Given the description of an element on the screen output the (x, y) to click on. 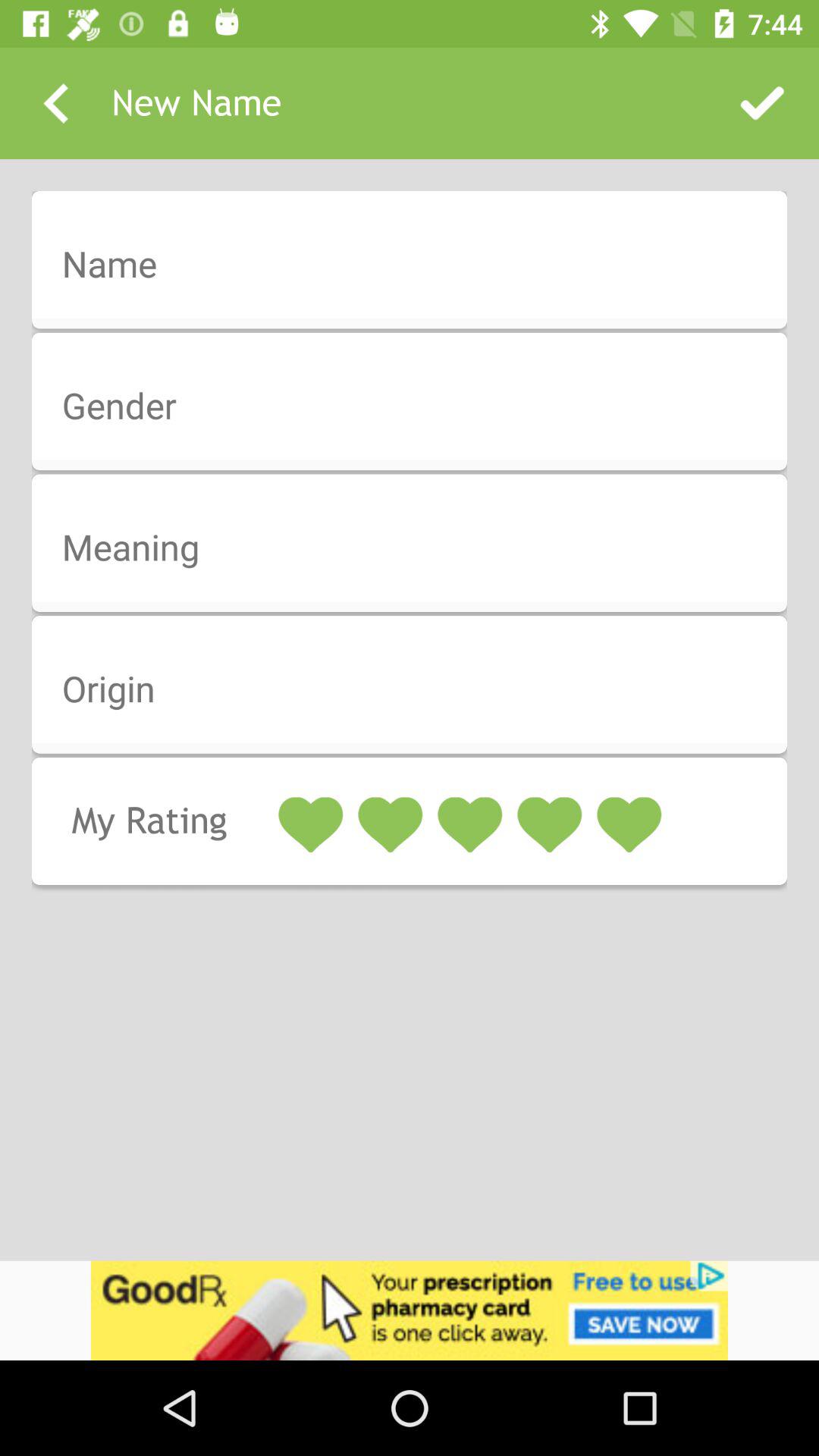
click for word meaning (419, 548)
